Given the description of an element on the screen output the (x, y) to click on. 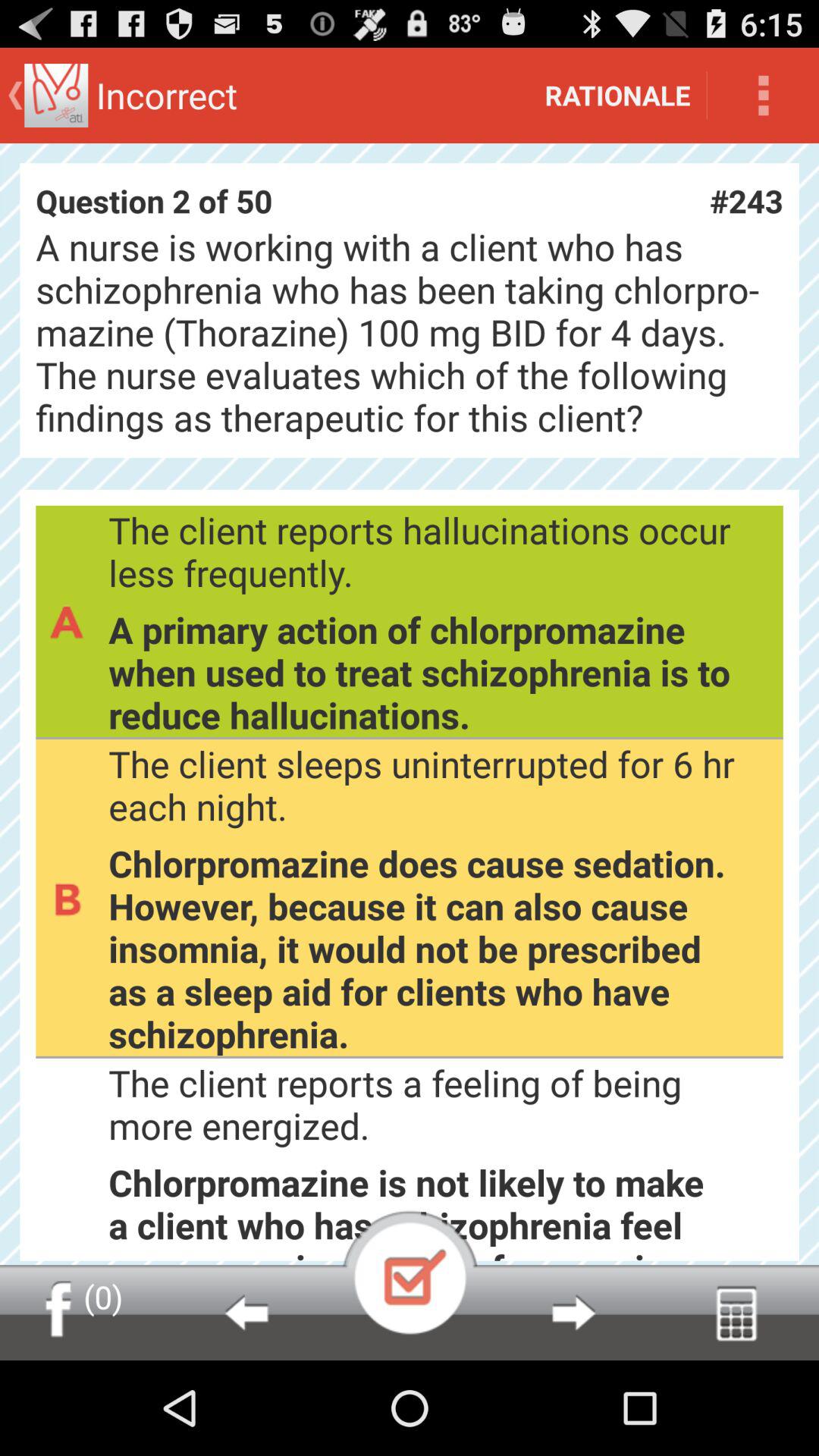
click item to the right of (0) (245, 1312)
